Given the description of an element on the screen output the (x, y) to click on. 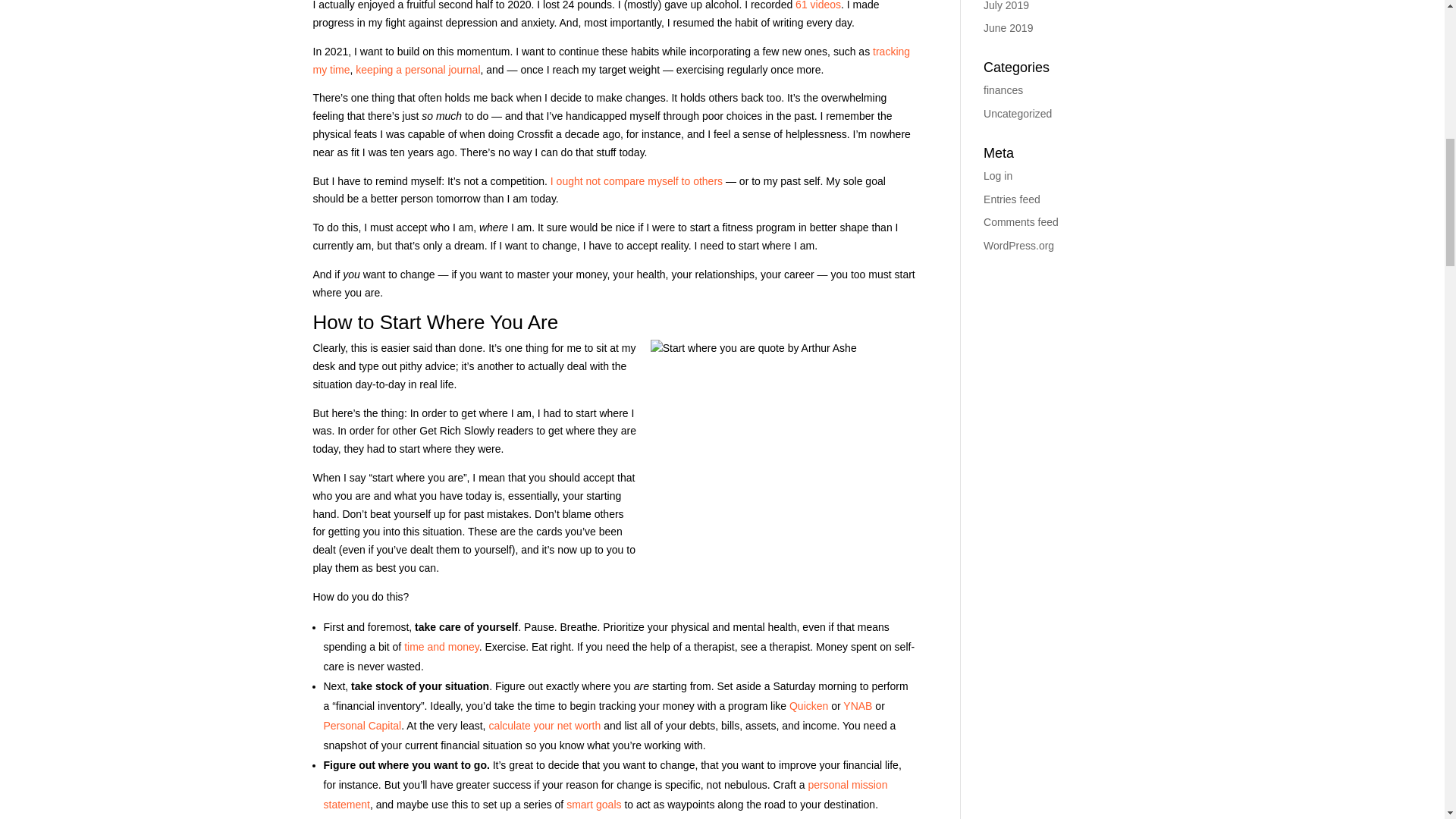
Personal Capital (362, 725)
keeping a personal journal (417, 69)
61 videos (817, 5)
YNAB (857, 705)
tracking my time (611, 60)
calculate your net worth (543, 725)
I ought not compare myself to others (636, 181)
time and money (441, 646)
Start where you are quote by Arthur Ashe (782, 472)
personal mission statement (604, 794)
Quicken (808, 705)
smart goals (593, 804)
